Given the description of an element on the screen output the (x, y) to click on. 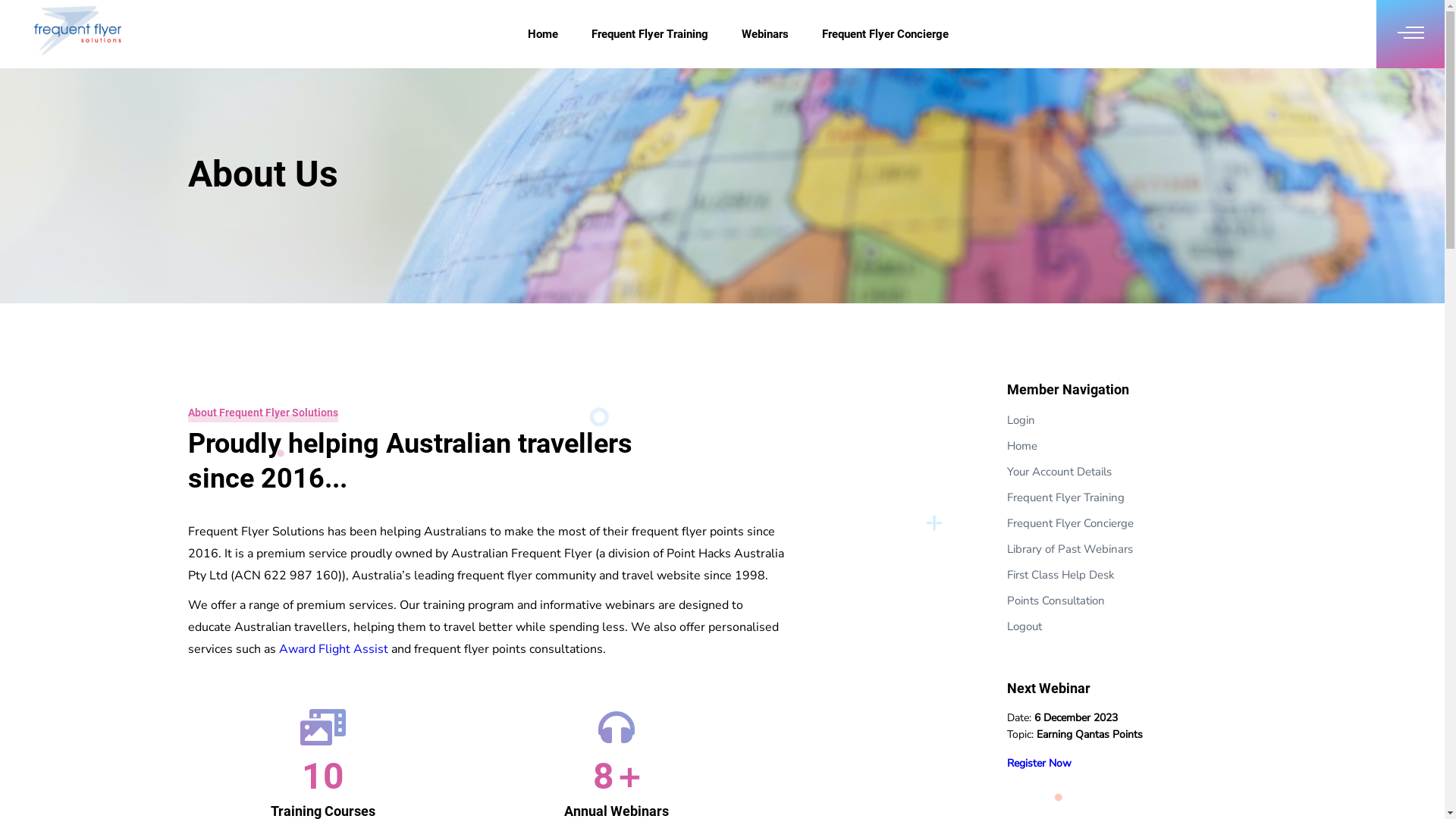
Library of Past Webinars Element type: text (1069, 548)
Home Element type: text (542, 34)
Login Element type: text (1021, 419)
Refund Policy Element type: text (1076, 784)
Points Consultation Element type: text (1055, 600)
Contact Us Element type: text (1232, 784)
Privacy Policy Element type: text (1001, 784)
Your Account Details Element type: text (1059, 471)
Frequent Flyer Training Element type: text (649, 34)
First Class Help Desk Element type: text (1060, 574)
Home Element type: text (1022, 445)
About Us Element type: text (934, 784)
Logout Element type: text (1024, 625)
Register Now Element type: text (1039, 762)
Frequent Flyer Training Element type: text (1065, 497)
Frequent Flyer Concierge Element type: text (1070, 522)
Webinars Element type: text (764, 34)
Award Flight Assist Element type: text (333, 648)
Frequent Flyer Concierge Element type: text (885, 34)
Search Element type: text (17, 15)
Terms of Service Element type: text (1156, 784)
